Given the description of an element on the screen output the (x, y) to click on. 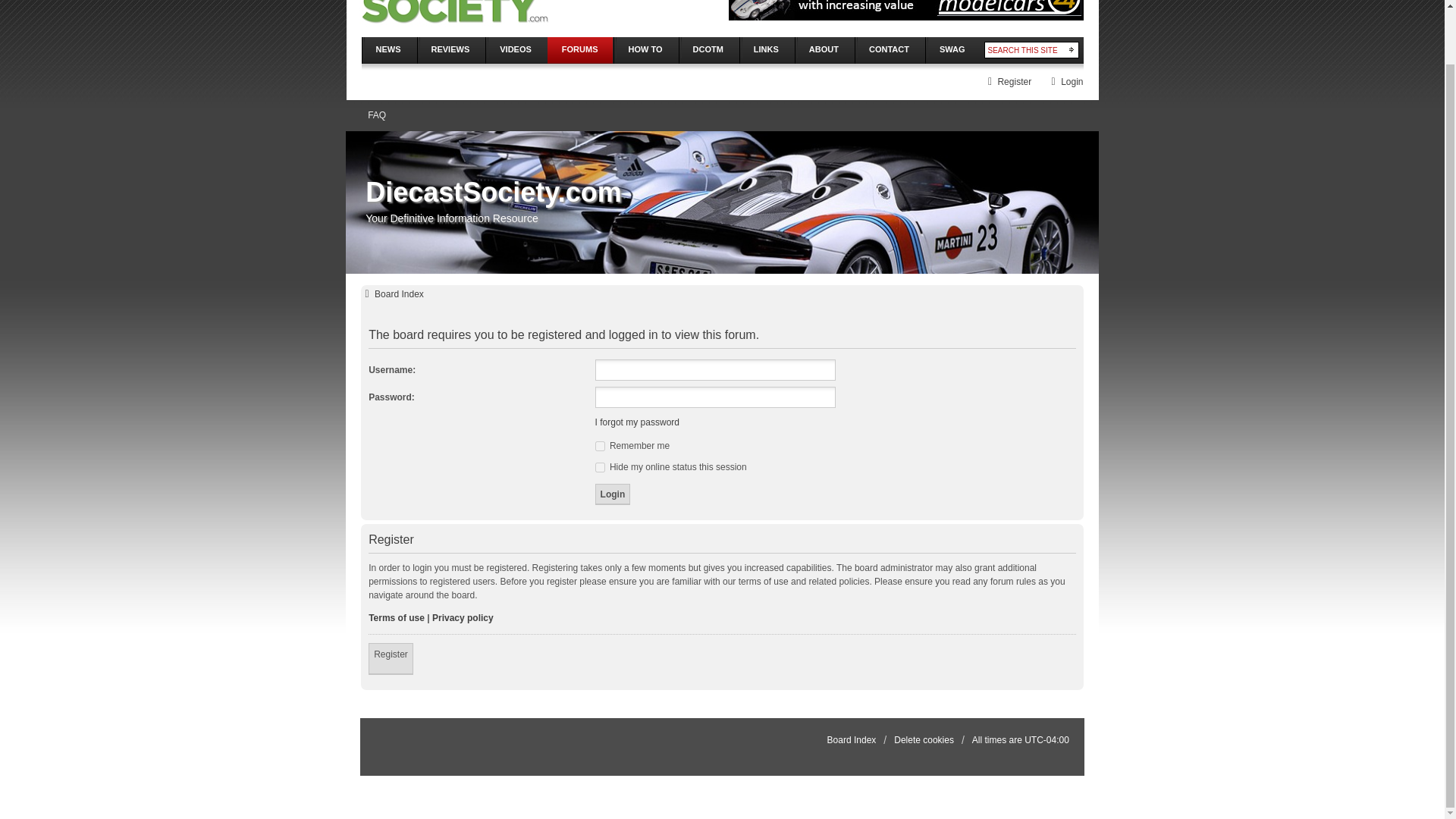
Board index (392, 294)
ABOUT (823, 49)
SWAG (951, 49)
CONTACT (889, 49)
Login (1064, 81)
on (600, 446)
DCOTM (708, 49)
Frequently Asked Questions (376, 115)
Your Definitive Information Resource (453, 14)
Search this site (1024, 49)
VIDEOS (515, 49)
UTC-4 (1046, 739)
HOW TO (644, 49)
Board index (851, 739)
FORUMS (579, 49)
